Given the description of an element on the screen output the (x, y) to click on. 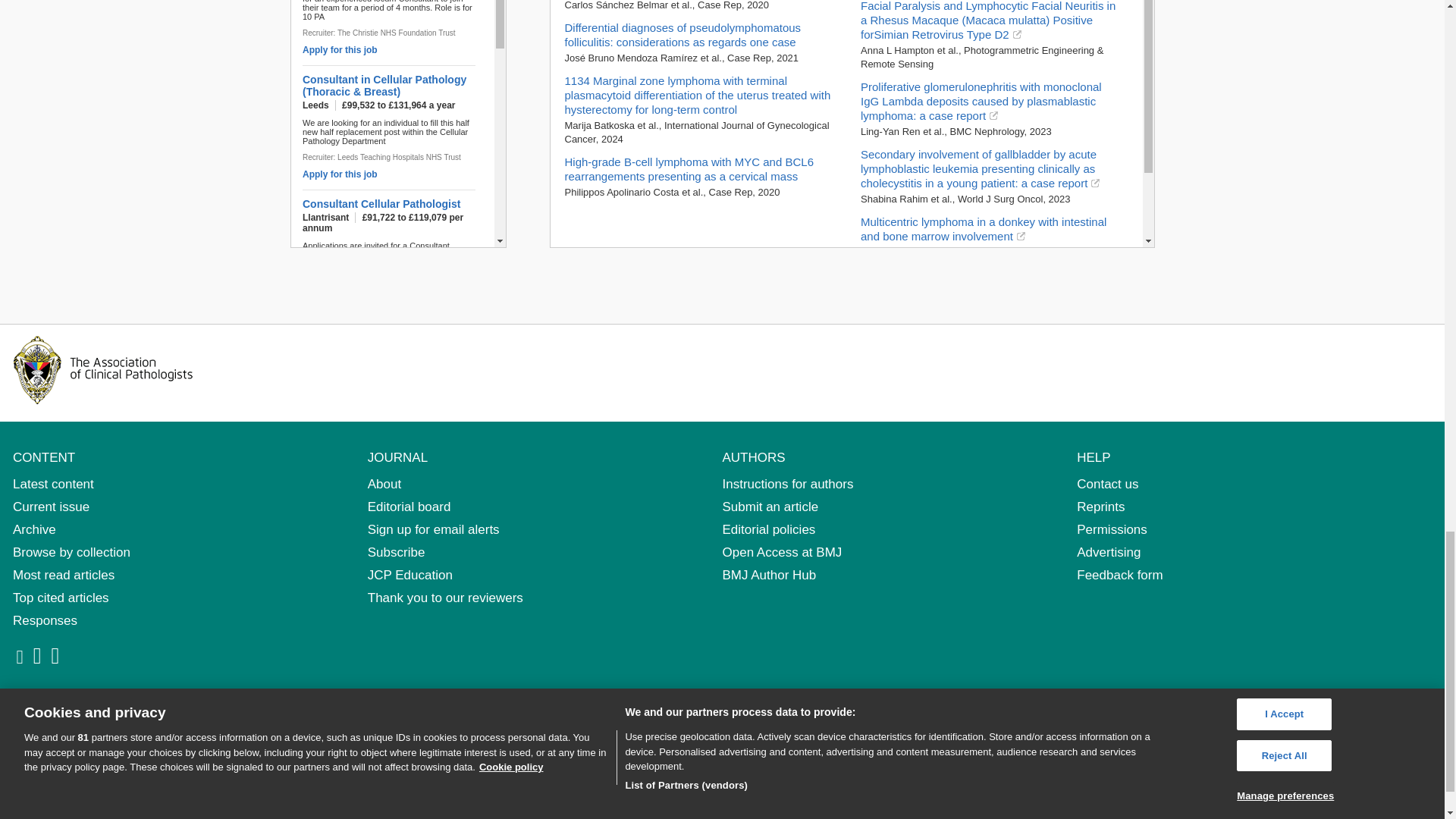
careers widget (397, 124)
